Given the description of an element on the screen output the (x, y) to click on. 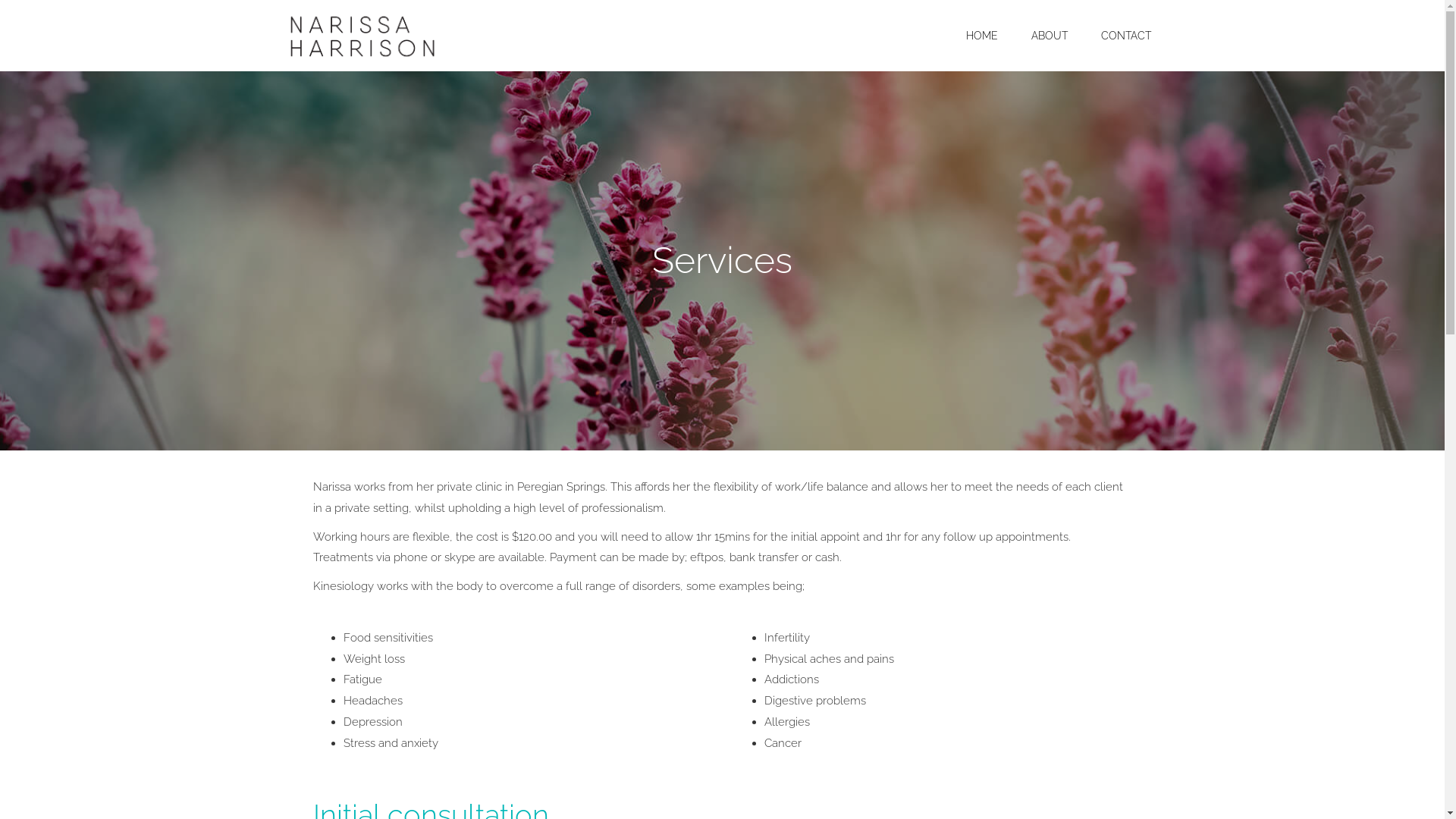
ABOUT Element type: text (1049, 35)
HOME Element type: text (981, 35)
CONTACT Element type: text (1125, 35)
